Given the description of an element on the screen output the (x, y) to click on. 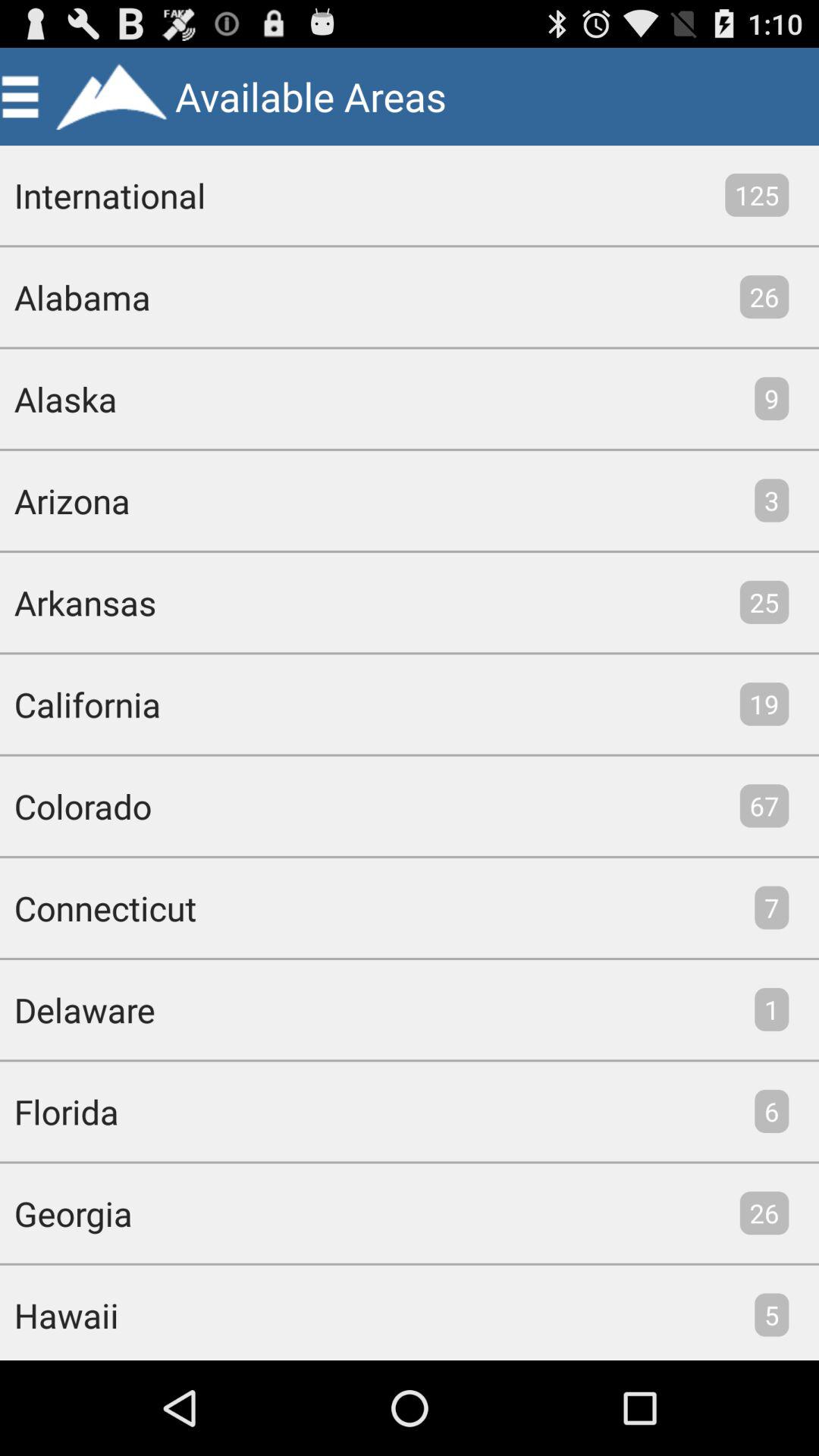
click the connecticut item (98, 907)
